Given the description of an element on the screen output the (x, y) to click on. 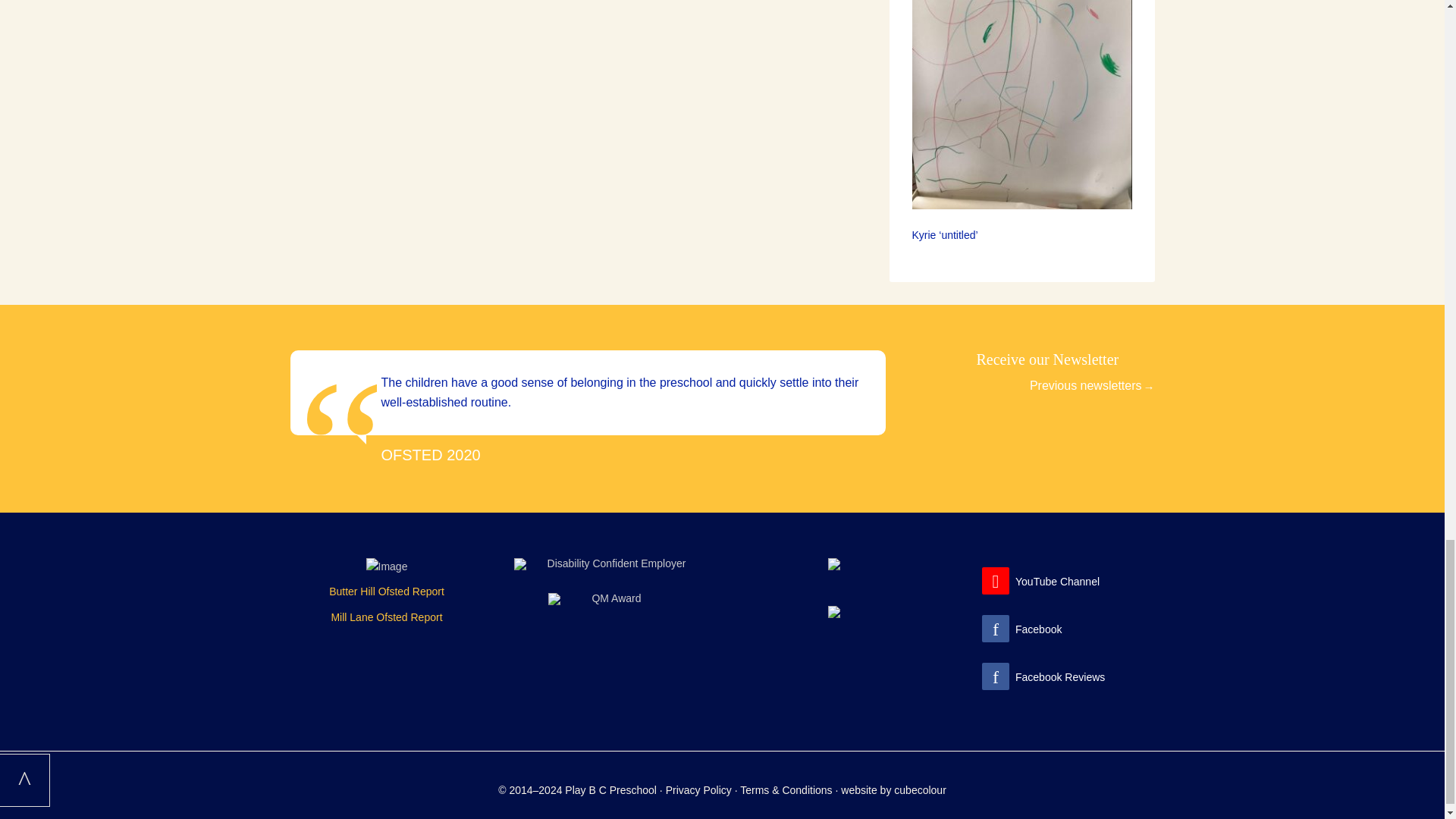
Previous newsletters (1091, 385)
Butter Hill Ofsted Report (386, 591)
Mill Lane Ofsted Report (386, 616)
OFSTED 2020 (430, 454)
